Given the description of an element on the screen output the (x, y) to click on. 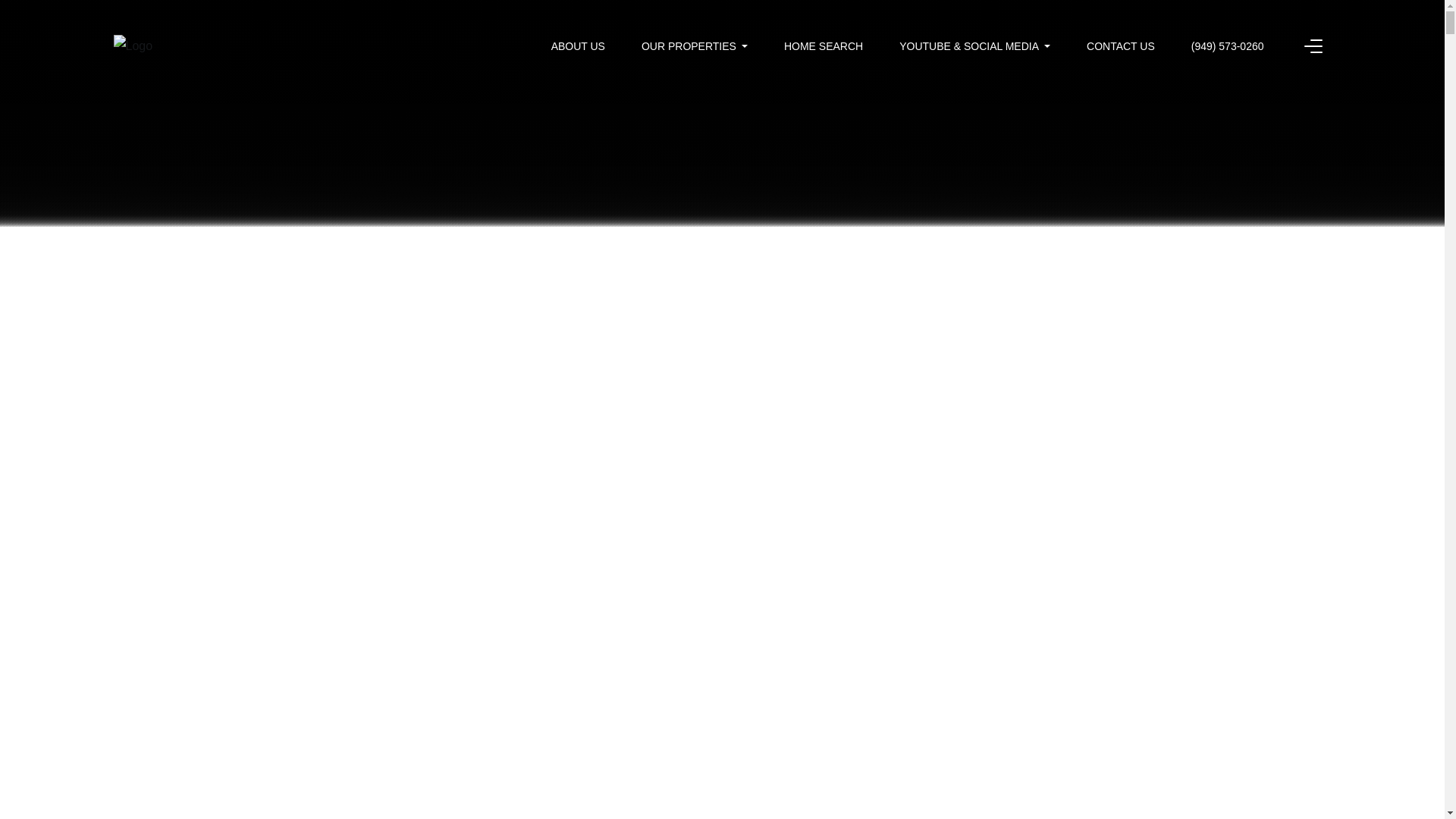
OUR PROPERTIES (695, 46)
HOME SEARCH (823, 46)
CONTACT US (1120, 46)
ABOUT US (578, 46)
